Given the description of an element on the screen output the (x, y) to click on. 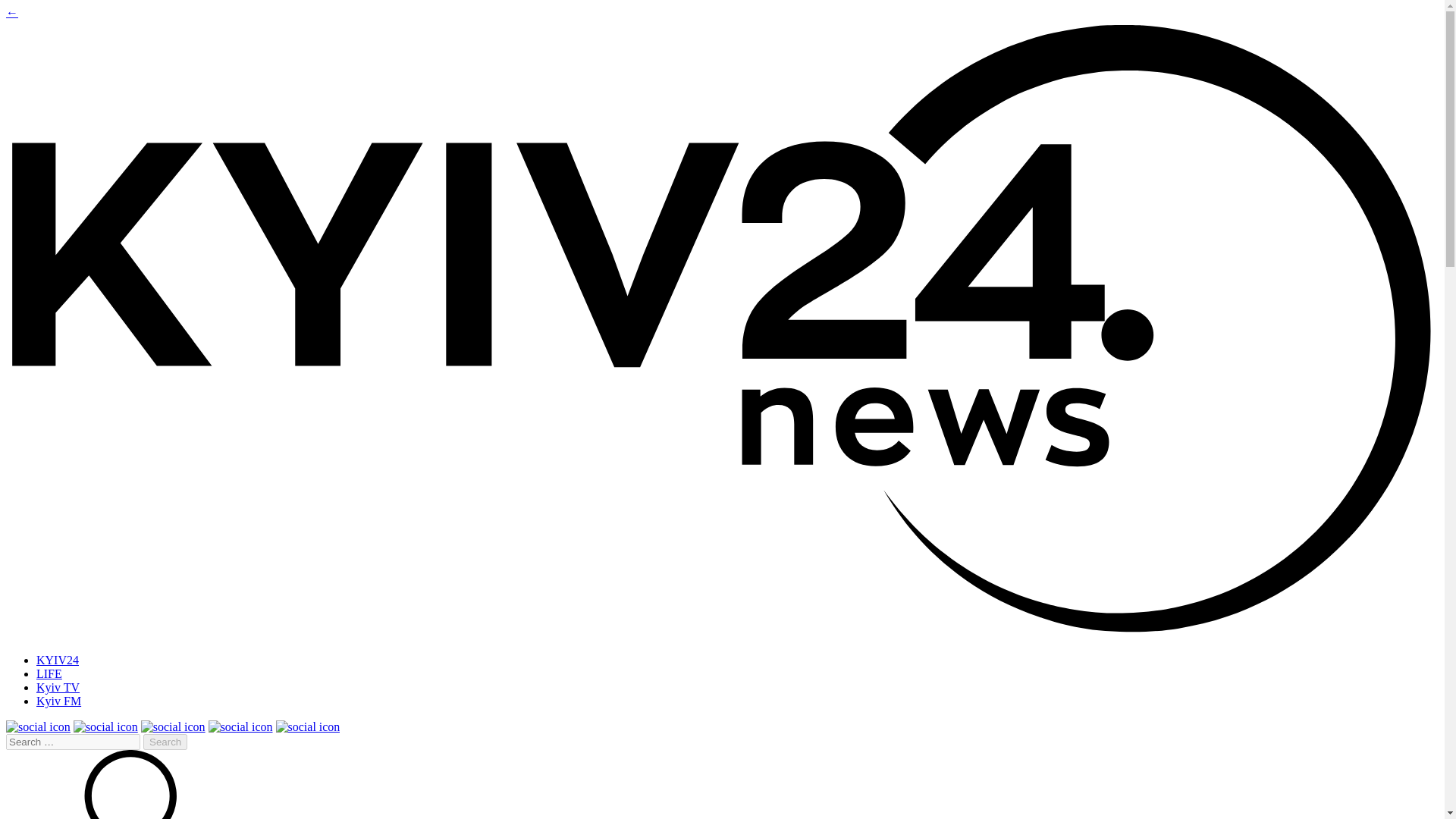
Search (164, 741)
Kyiv FM (58, 700)
Search (164, 741)
Search (164, 741)
KYIV24 (57, 659)
Kyiv TV (58, 686)
LIFE (49, 673)
